Given the description of an element on the screen output the (x, y) to click on. 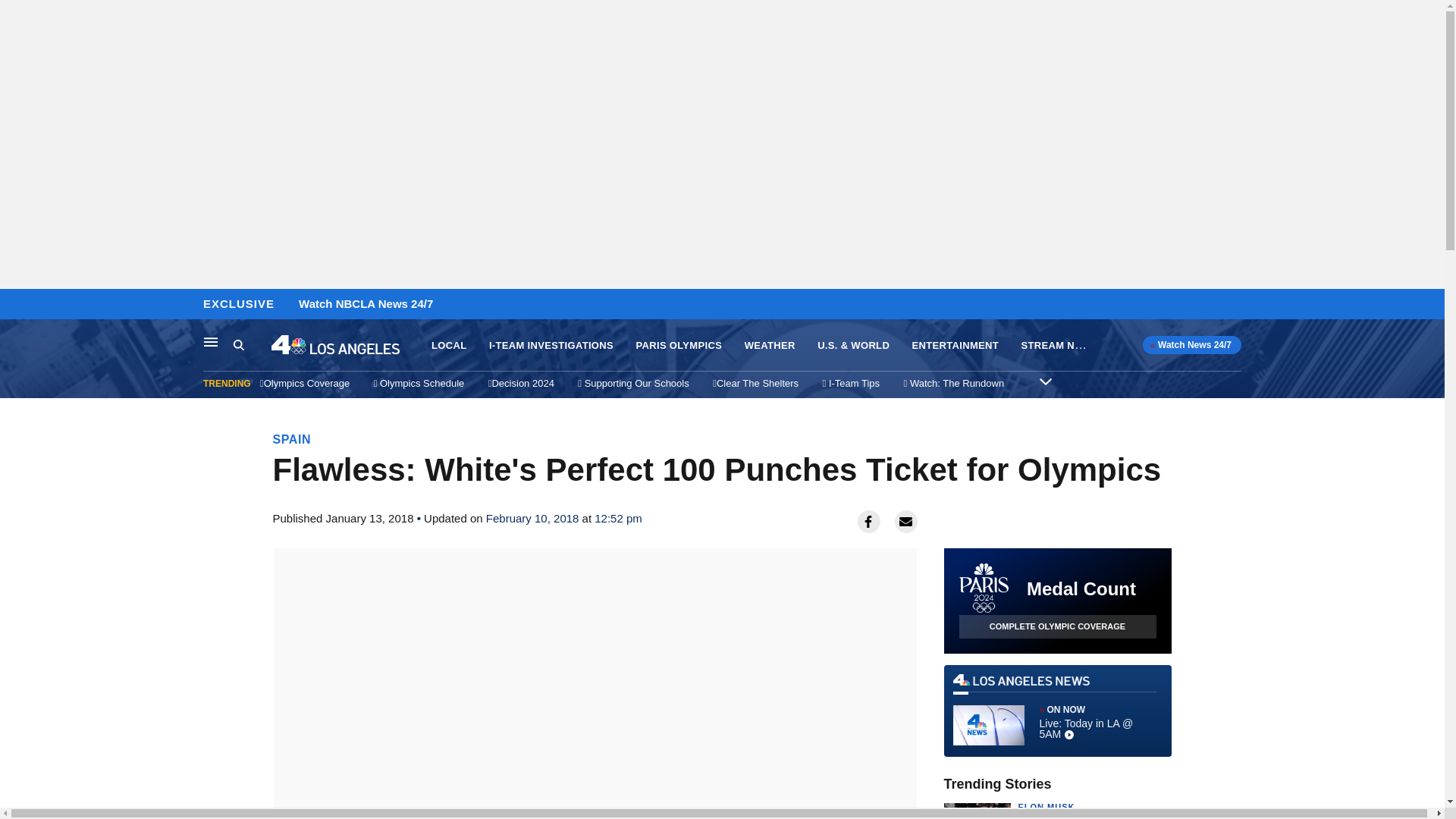
I-TEAM INVESTIGATIONS (550, 345)
ENTERTAINMENT (955, 345)
LOCAL (447, 345)
Search (238, 344)
COMPLETE OLYMPIC COVERAGE (1057, 626)
PARIS OLYMPICS (678, 345)
Skip to content (16, 304)
Search (252, 345)
Main Navigation (210, 341)
WEATHER (769, 345)
ELON MUSK (1045, 806)
Expand (1045, 381)
SPAIN (292, 439)
